Given the description of an element on the screen output the (x, y) to click on. 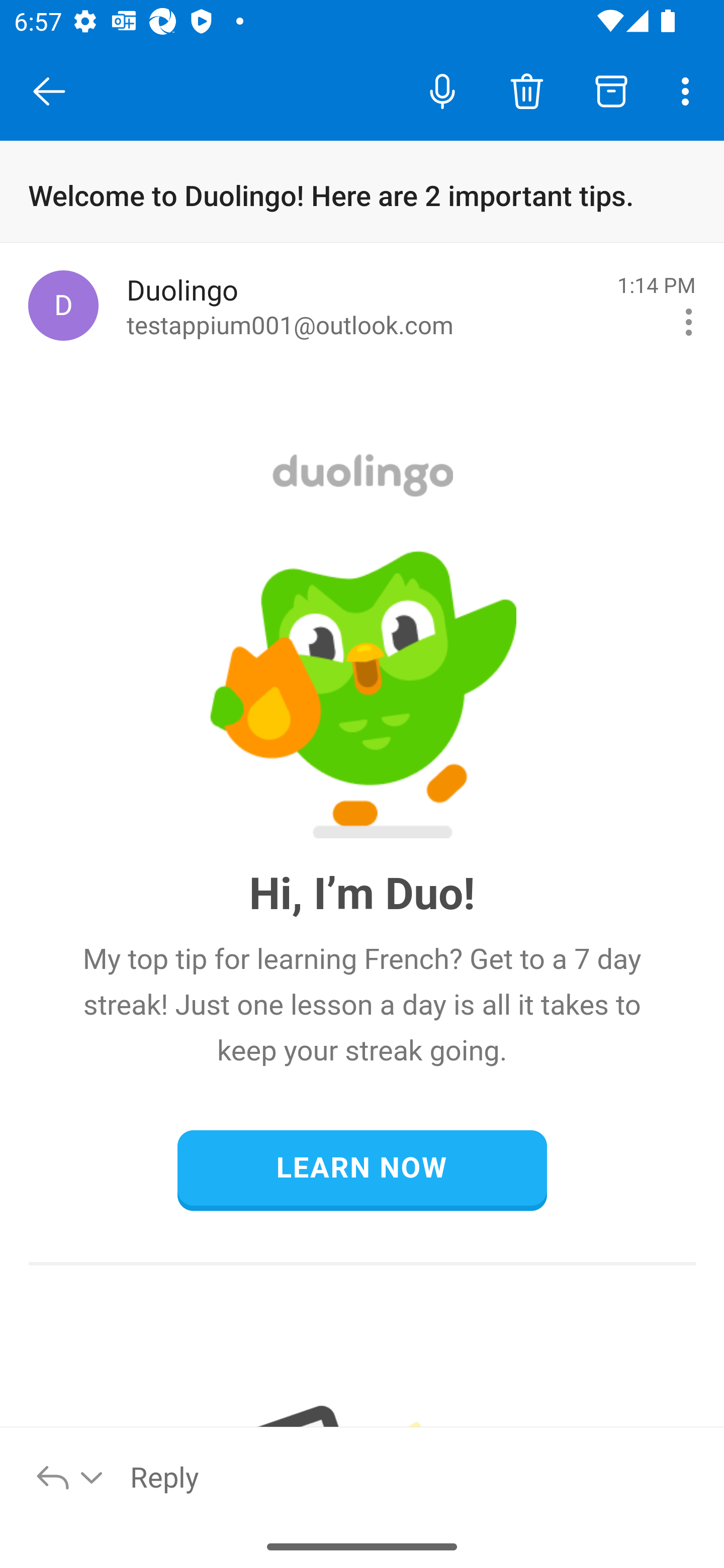
Close (49, 91)
Delete (526, 90)
Archive (611, 90)
More options (688, 90)
Duolingo, hello@duolingo.com (63, 304)
Duolingo
to testappium001@outlook.com (364, 305)
Message actions (688, 322)
image (362, 475)
image (362, 693)
  LEARN NOW   (361, 1168)
Reply options (70, 1475)
Reply (416, 1475)
